Given the description of an element on the screen output the (x, y) to click on. 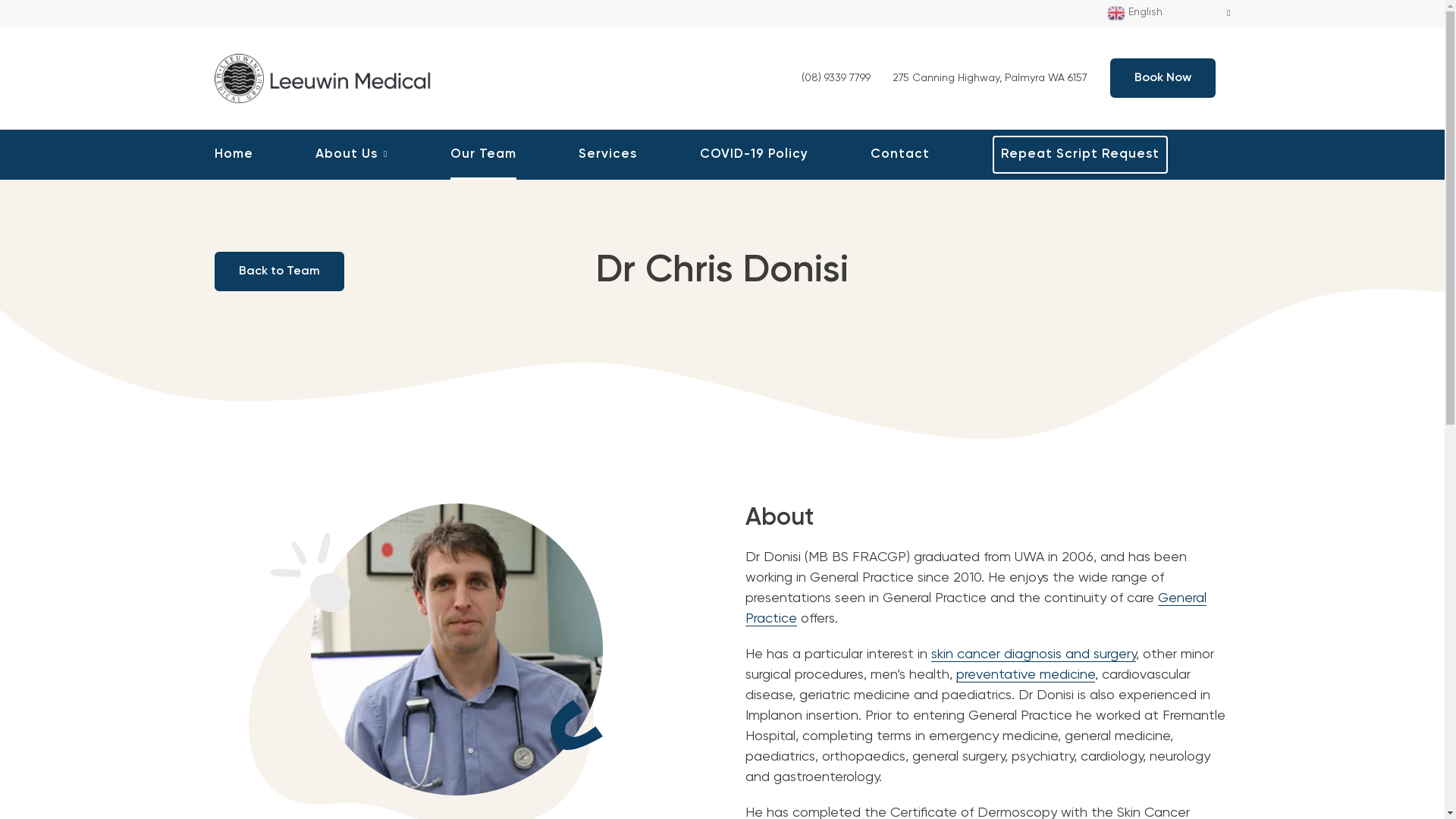
Skip to content Element type: text (0, 0)
About Us Element type: text (351, 154)
Leeuwin Medical Element type: hover (327, 76)
(08) 9339 7799 Element type: text (836, 77)
Contact Element type: text (899, 154)
Our Team Element type: text (483, 154)
Home Element type: text (232, 154)
English Element type: text (1168, 13)
skin cancer diagnosis and surgery Element type: text (1033, 654)
Services Element type: text (607, 154)
COVID-19 Policy Element type: text (753, 154)
Back to Team Element type: text (278, 271)
preventative medicine Element type: text (1024, 675)
General Practice Element type: text (974, 608)
Book Now Element type: text (1162, 77)
Repeat Script Request Element type: text (1079, 154)
